Given the description of an element on the screen output the (x, y) to click on. 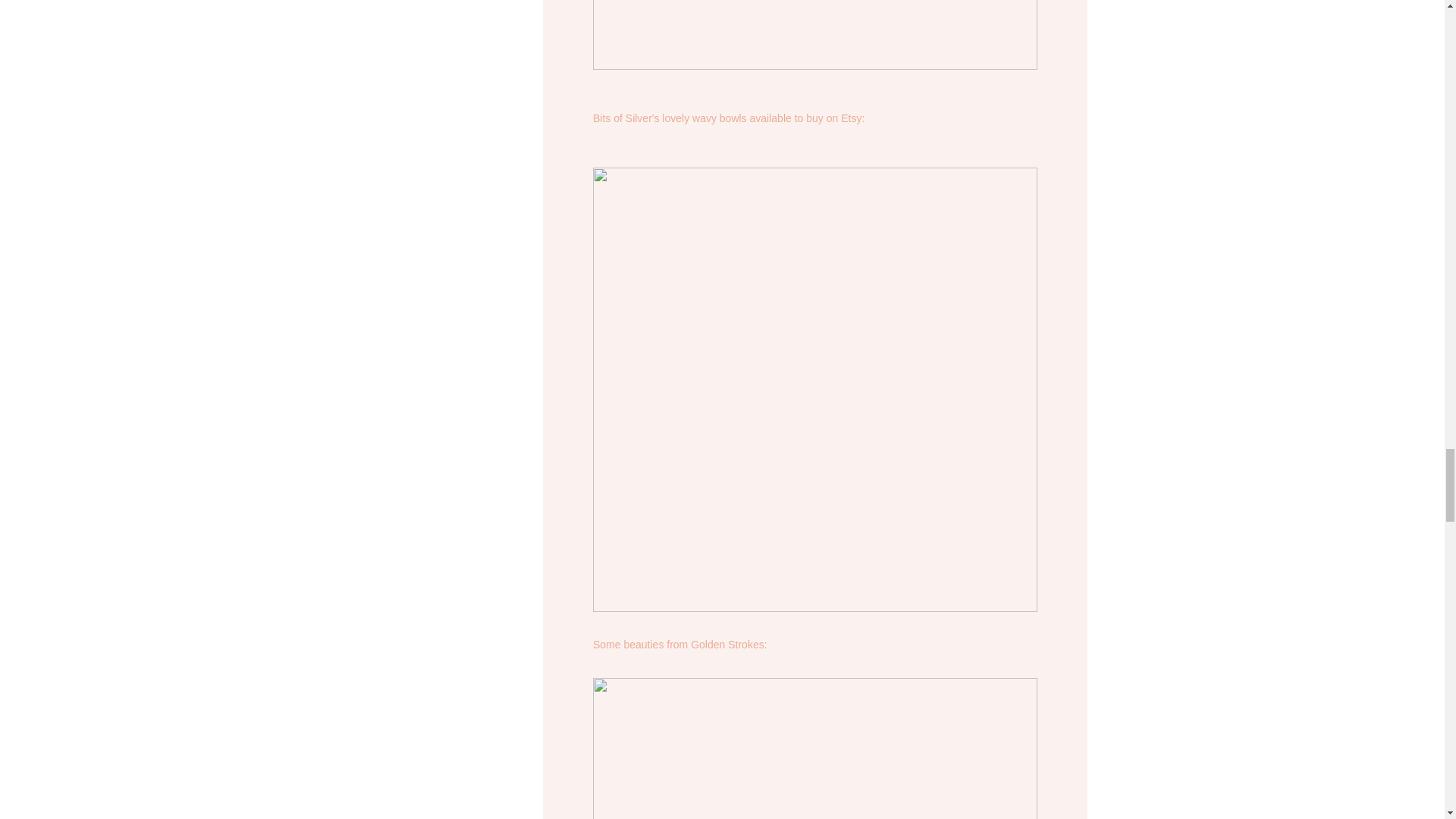
Some beauties from Golden Strokes: (679, 644)
